Given the description of an element on the screen output the (x, y) to click on. 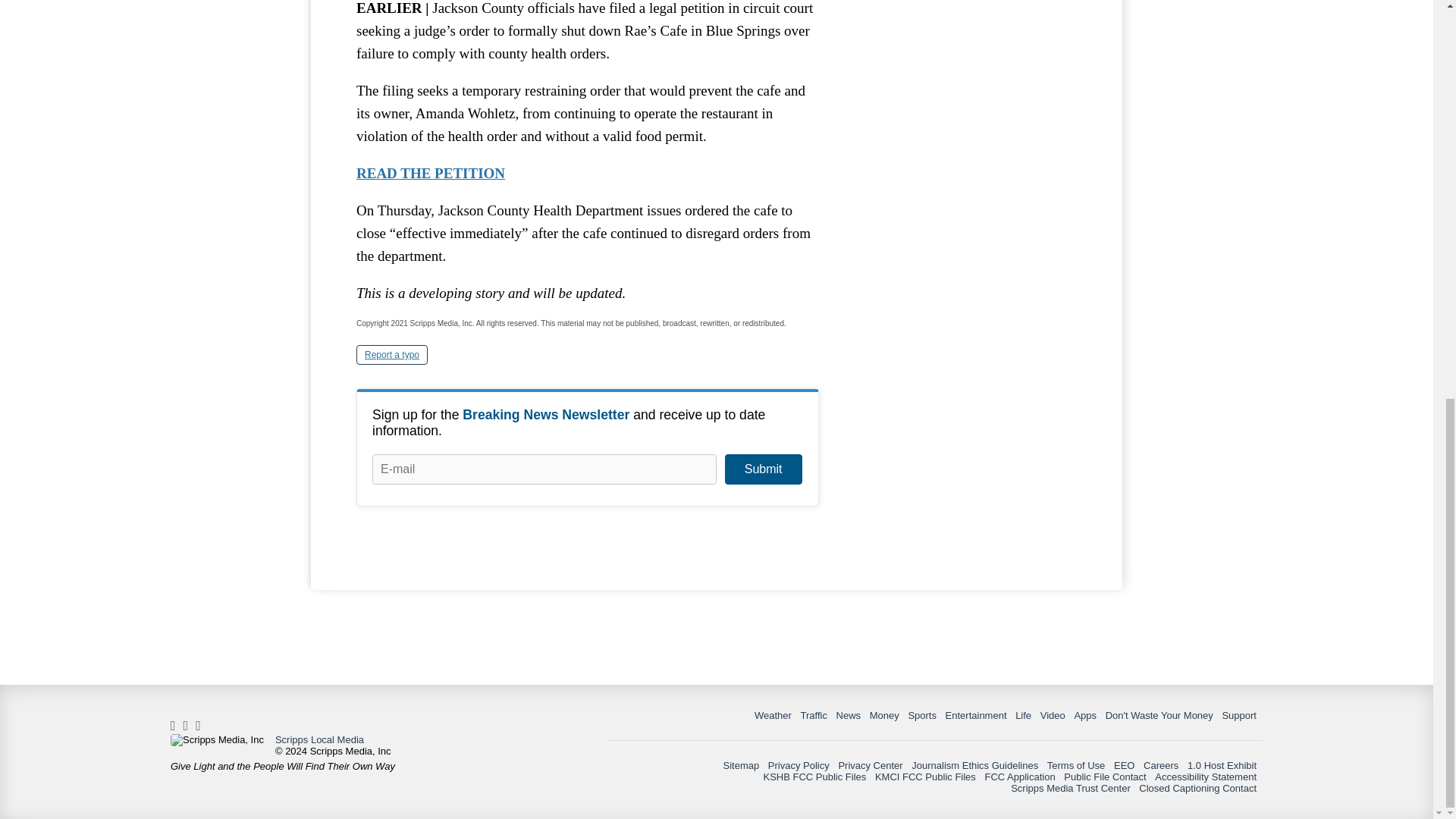
Submit (763, 469)
